Given the description of an element on the screen output the (x, y) to click on. 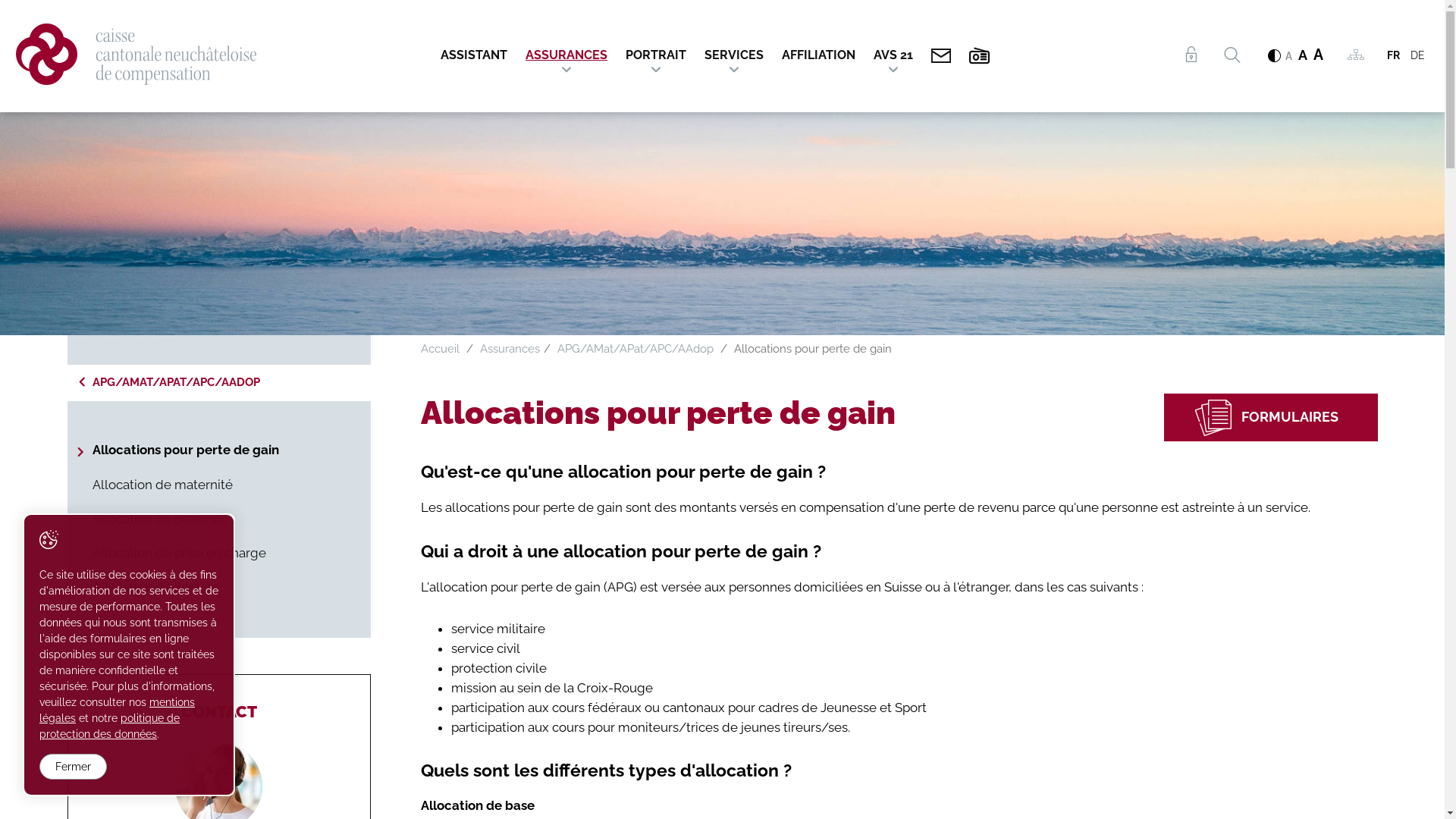
A Element type: text (1302, 55)
ASSURANCES Element type: text (566, 49)
SERVICES Element type: text (733, 49)
AVS 21 Element type: text (893, 49)
Allocations pour perte de gain Element type: text (218, 450)
AFFILIATION Element type: text (818, 49)
FORMULAIRES Element type: text (1270, 417)
Accueil Element type: text (439, 348)
PORTRAIT Element type: text (655, 49)
Fermer Element type: text (72, 766)
A Element type: text (1288, 55)
ASSISTANT Element type: text (477, 49)
Allocation d'adoption Element type: text (218, 587)
FR Element type: text (1392, 55)
A Element type: text (1318, 54)
Rechercher Element type: text (1231, 55)
APG/AMAT/APAT/APC/AADOP Element type: text (218, 382)
Allocation de prise en charge Element type: text (218, 553)
DE Element type: text (1417, 55)
